Given the description of an element on the screen output the (x, y) to click on. 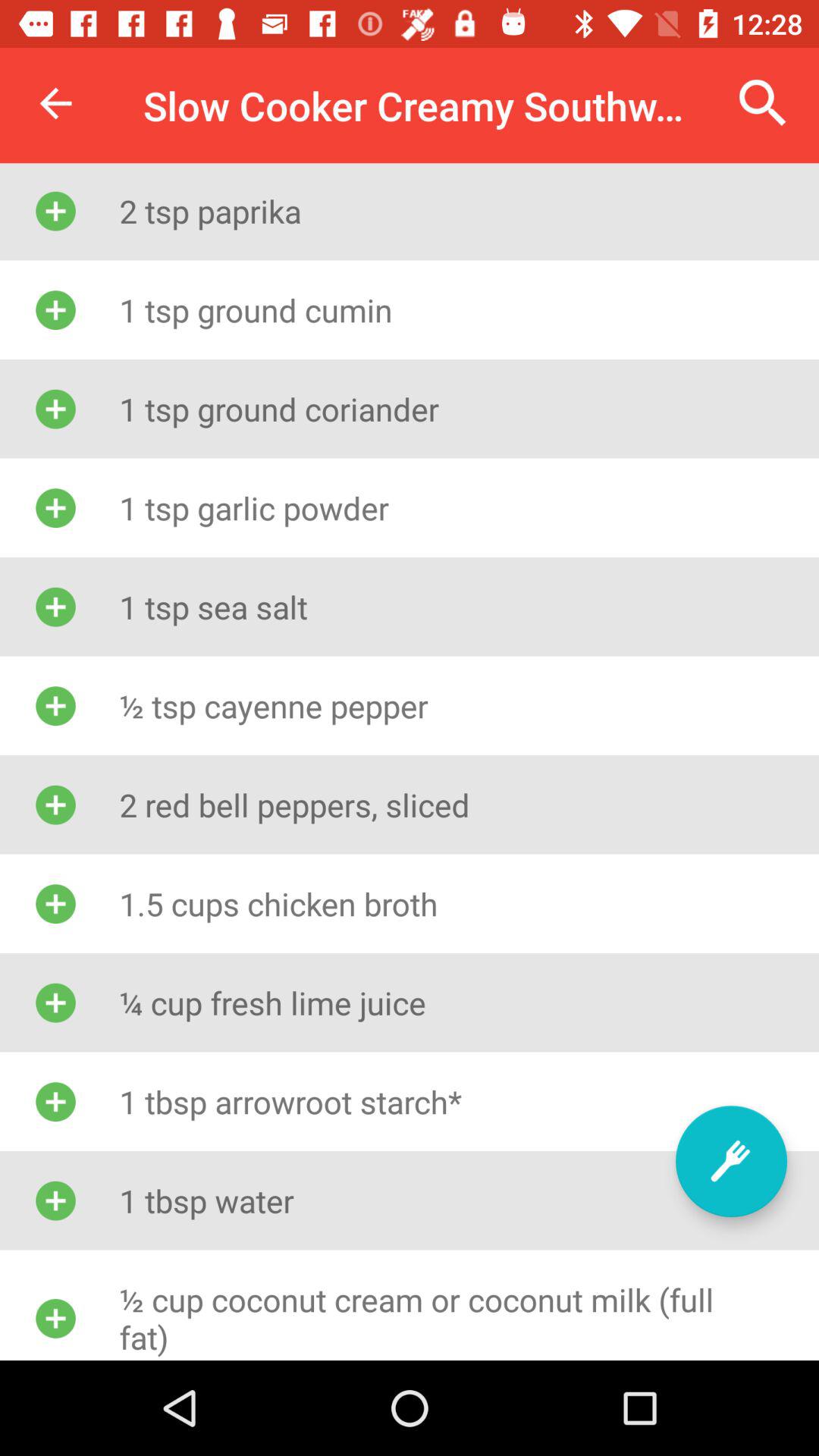
select icon above the 2 tsp paprika icon (763, 103)
